Given the description of an element on the screen output the (x, y) to click on. 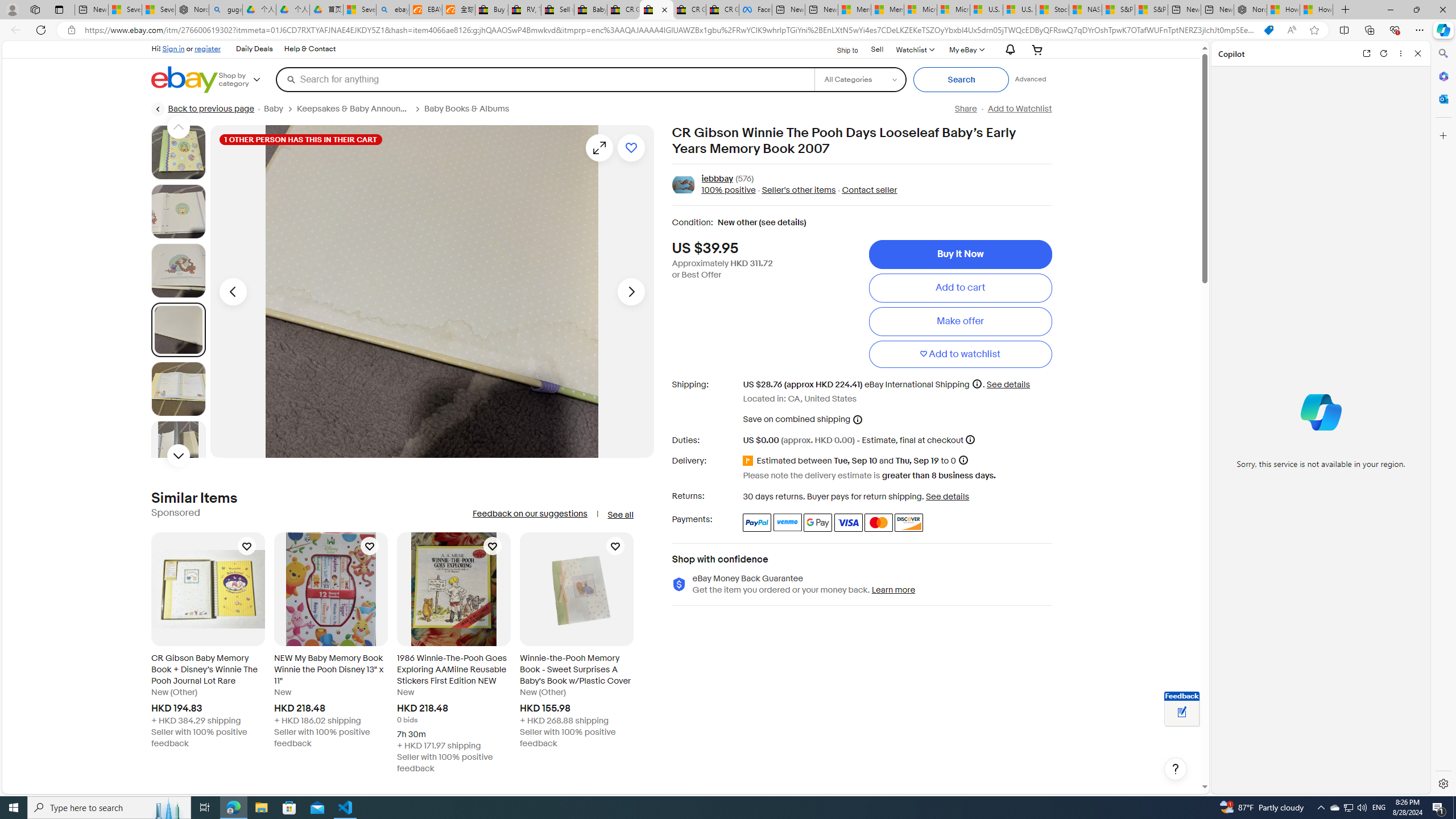
Baby Keepsakes & Announcements for sale | eBay (590, 9)
Daily Deals (254, 49)
Leave feedback about your eBay ViewItem experience (1181, 713)
See details for shipping (1007, 383)
Keepsakes & Baby Announcements (353, 108)
Google Pay (817, 521)
Settings (1442, 783)
You have the best price! (1268, 29)
Class: ux-action (682, 184)
eBay Home (184, 79)
Opens image gallery (598, 147)
